Given the description of an element on the screen output the (x, y) to click on. 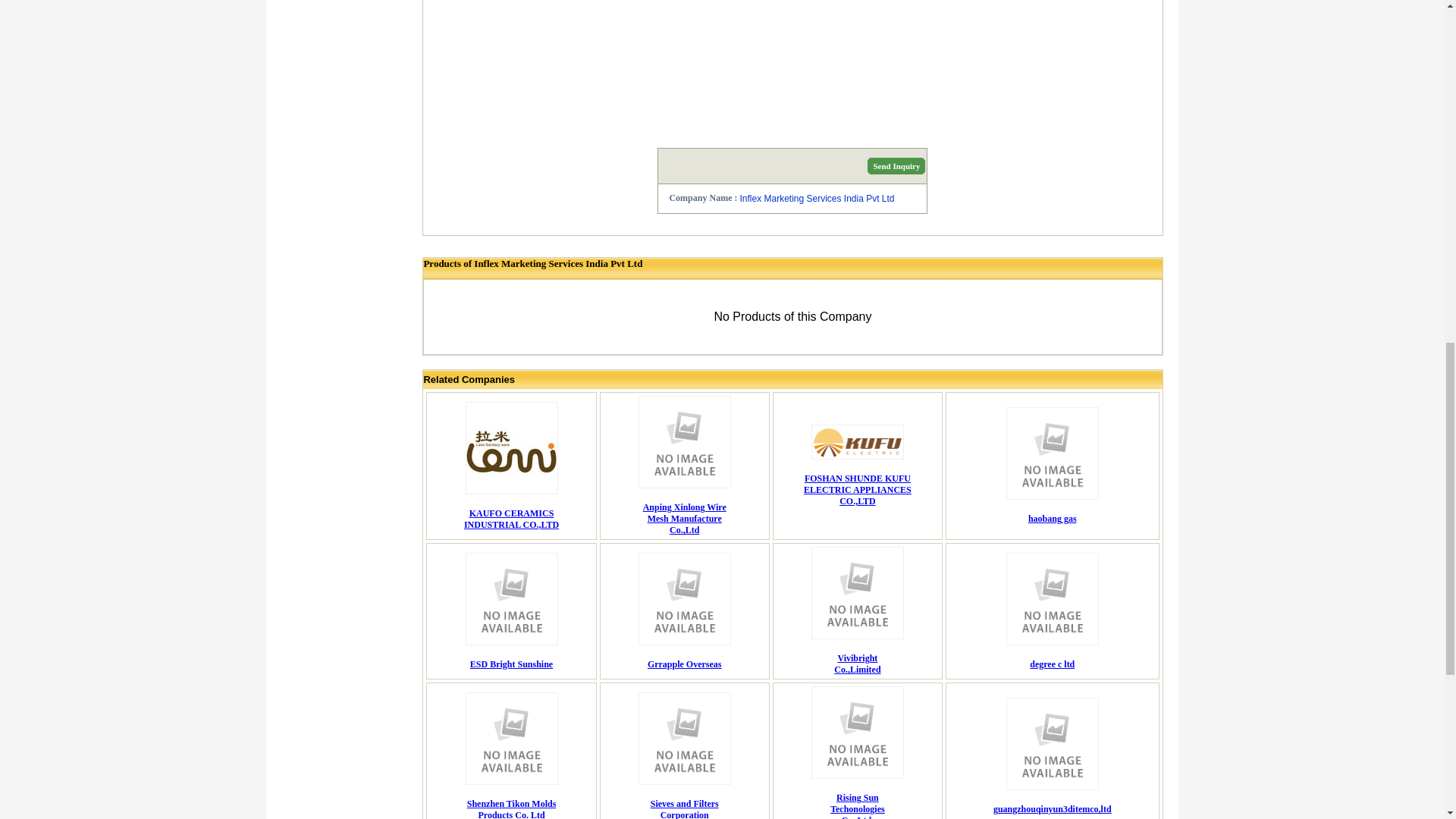
haobang gas (1052, 518)
guangzhouqinyun3ditemco,ltd (1052, 808)
Inflex Marketing Services India Pvt Ltd (816, 198)
Grrapple Overseas (684, 518)
degree c ltd (684, 664)
Send Inquiry (1051, 664)
Advertisement (511, 518)
Advertisement (857, 663)
ESD Bright Sunshine (857, 805)
